Given the description of an element on the screen output the (x, y) to click on. 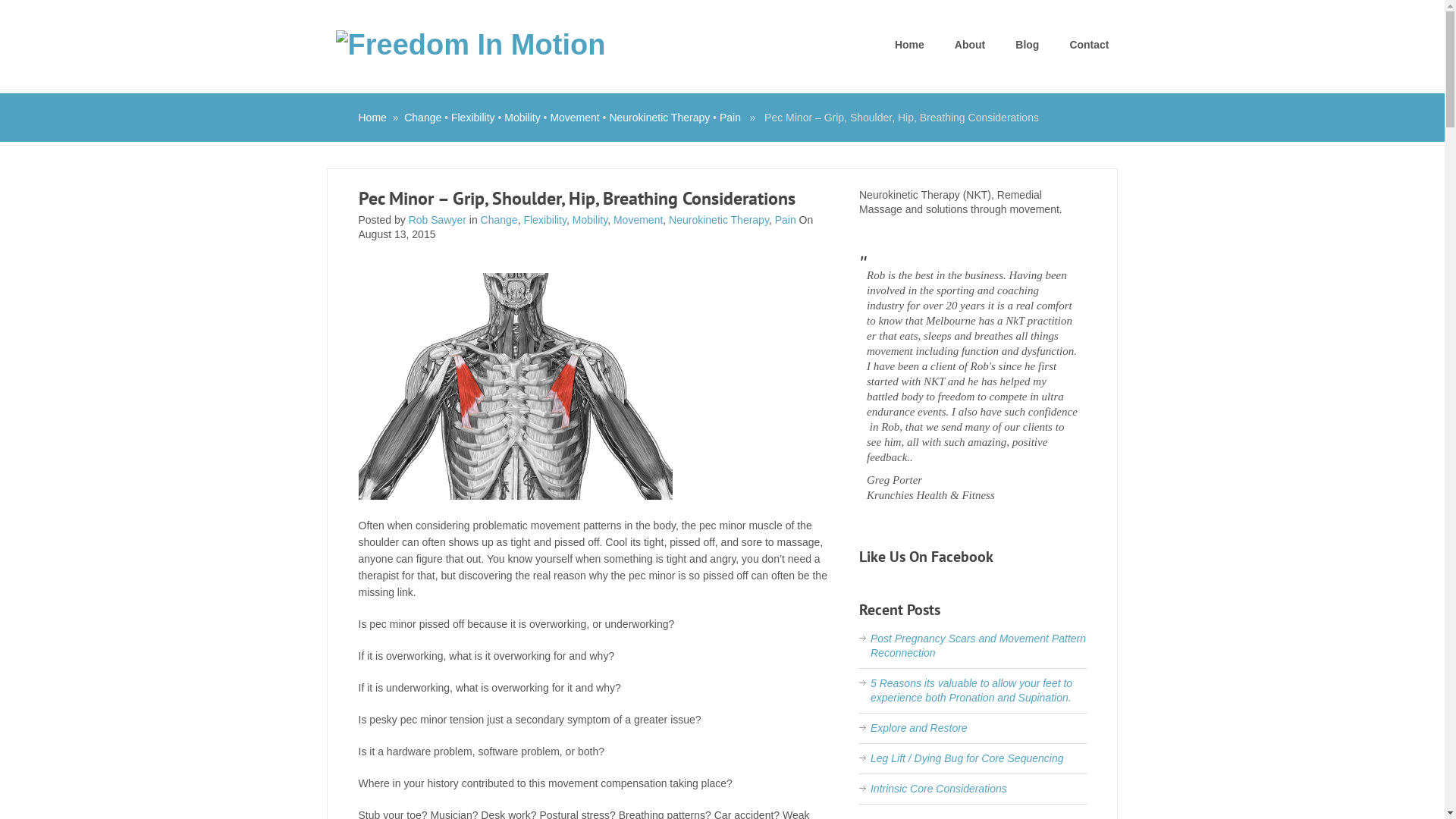
Rob Sawyer Element type: text (437, 219)
Movement Element type: text (574, 117)
Explore and Restore Element type: text (918, 727)
Intrinsic Core Considerations Element type: text (938, 788)
Pain Element type: text (729, 117)
Pain Element type: text (785, 219)
Change Element type: text (498, 219)
Post Pregnancy Scars and Movement Pattern Reconnection Element type: text (977, 645)
Leg Lift / Dying Bug for Core Sequencing Element type: text (966, 758)
Neurokinetic Therapy Element type: text (658, 117)
Mobility Element type: text (521, 117)
Flexibility Element type: text (473, 117)
Home Element type: text (909, 44)
Flexibility Element type: text (544, 219)
Mobility Element type: text (589, 219)
About Element type: text (969, 44)
Blog Element type: text (1026, 44)
Change Element type: text (422, 117)
Movement Element type: text (637, 219)
Home Element type: text (371, 117)
Contact Element type: text (1088, 44)
Neurokinetic Therapy Element type: text (718, 219)
